Given the description of an element on the screen output the (x, y) to click on. 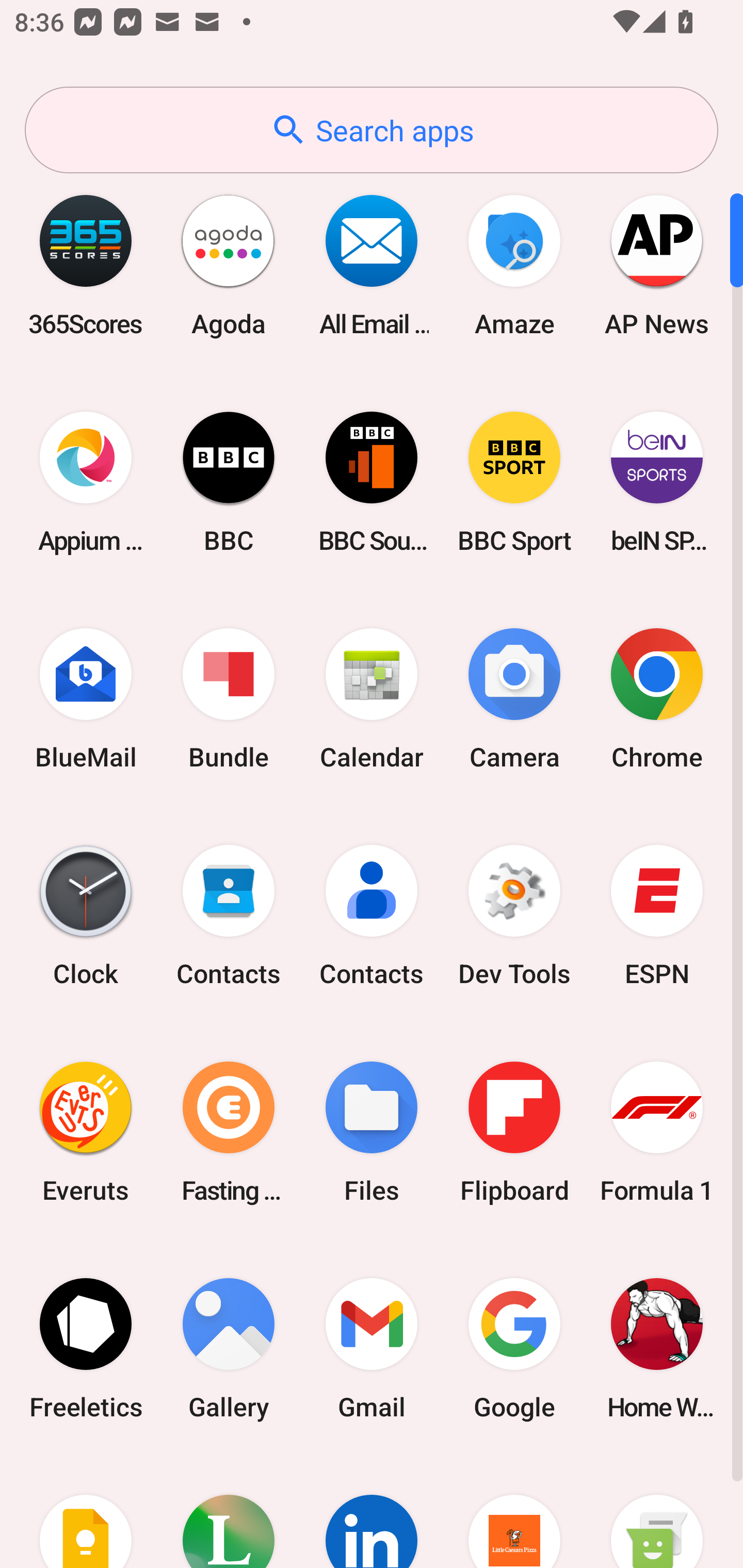
  Search apps (371, 130)
365Scores (85, 264)
Agoda (228, 264)
All Email Connect (371, 264)
Amaze (514, 264)
AP News (656, 264)
Appium Settings (85, 482)
BBC (228, 482)
BBC Sounds (371, 482)
BBC Sport (514, 482)
beIN SPORTS (656, 482)
BlueMail (85, 699)
Bundle (228, 699)
Calendar (371, 699)
Camera (514, 699)
Chrome (656, 699)
Clock (85, 915)
Contacts (228, 915)
Contacts (371, 915)
Dev Tools (514, 915)
ESPN (656, 915)
Everuts (85, 1131)
Fasting Coach (228, 1131)
Files (371, 1131)
Flipboard (514, 1131)
Formula 1 (656, 1131)
Freeletics (85, 1348)
Gallery (228, 1348)
Gmail (371, 1348)
Google (514, 1348)
Home Workout (656, 1348)
Keep Notes (85, 1512)
Lifesum (228, 1512)
LinkedIn (371, 1512)
Little Caesars Pizza (514, 1512)
Messaging (656, 1512)
